Given the description of an element on the screen output the (x, y) to click on. 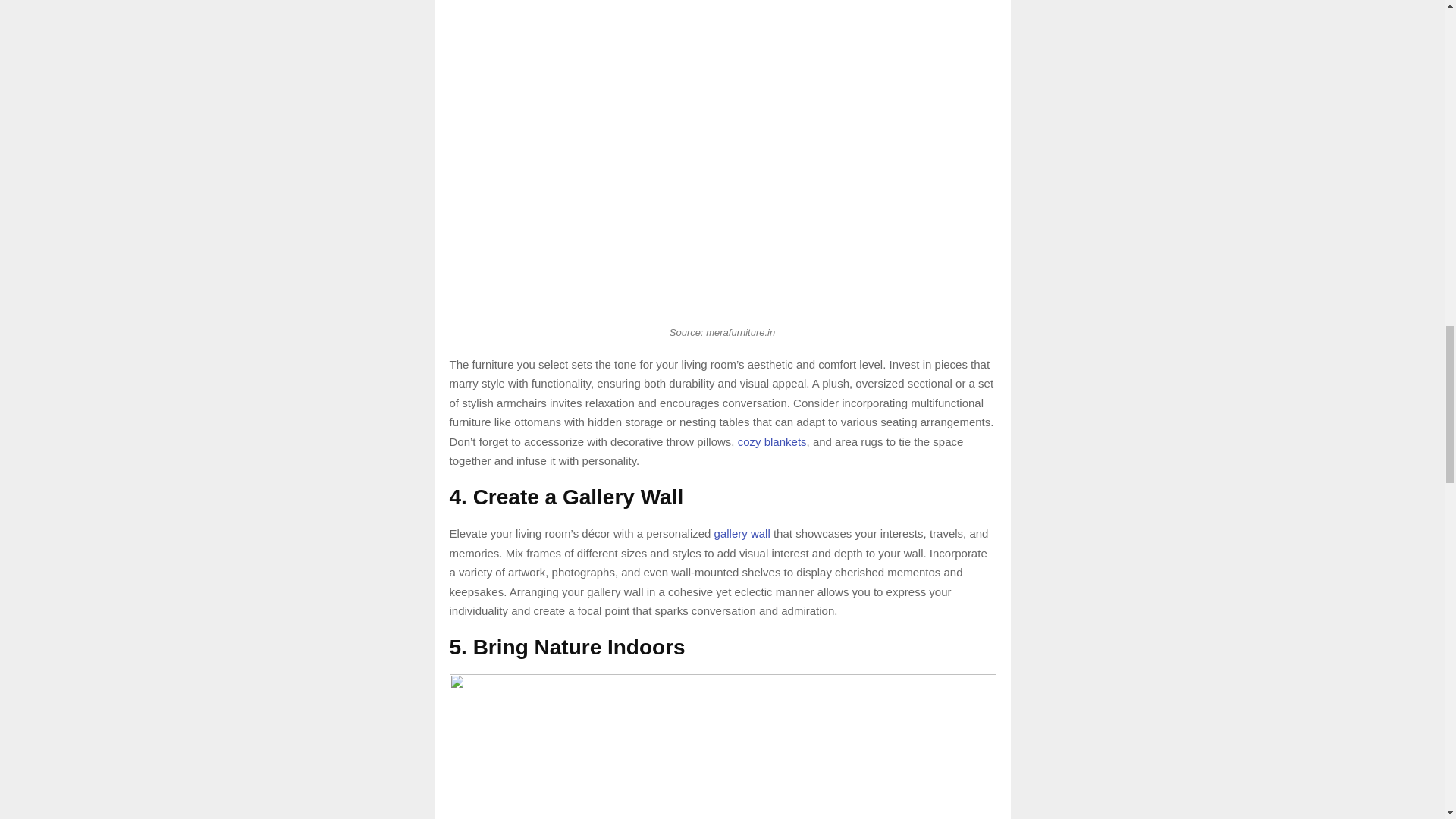
cozy blankets (772, 440)
gallery wall (742, 533)
